Given the description of an element on the screen output the (x, y) to click on. 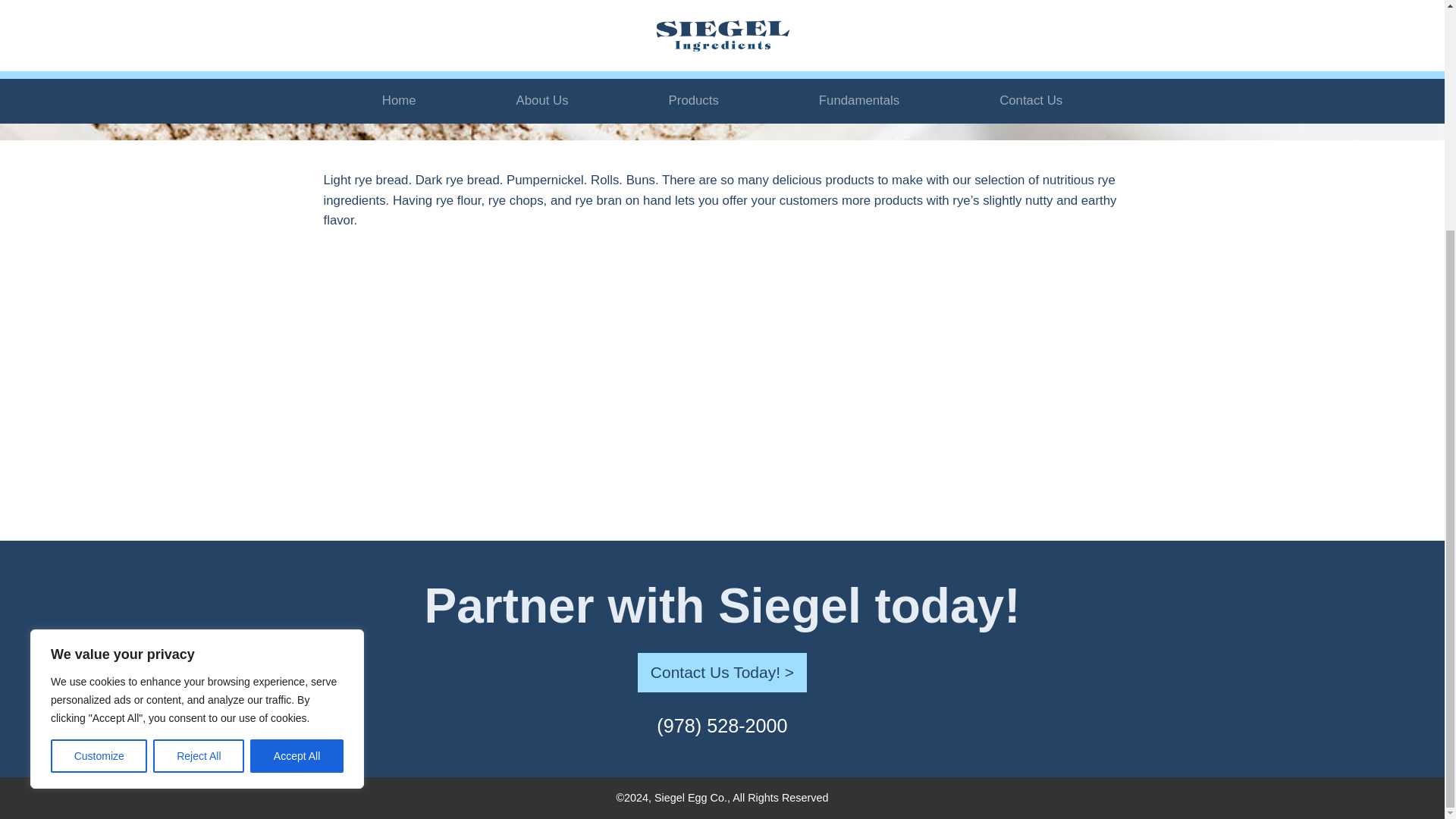
Accept All (296, 444)
Customize (98, 444)
Reject All (198, 444)
